Given the description of an element on the screen output the (x, y) to click on. 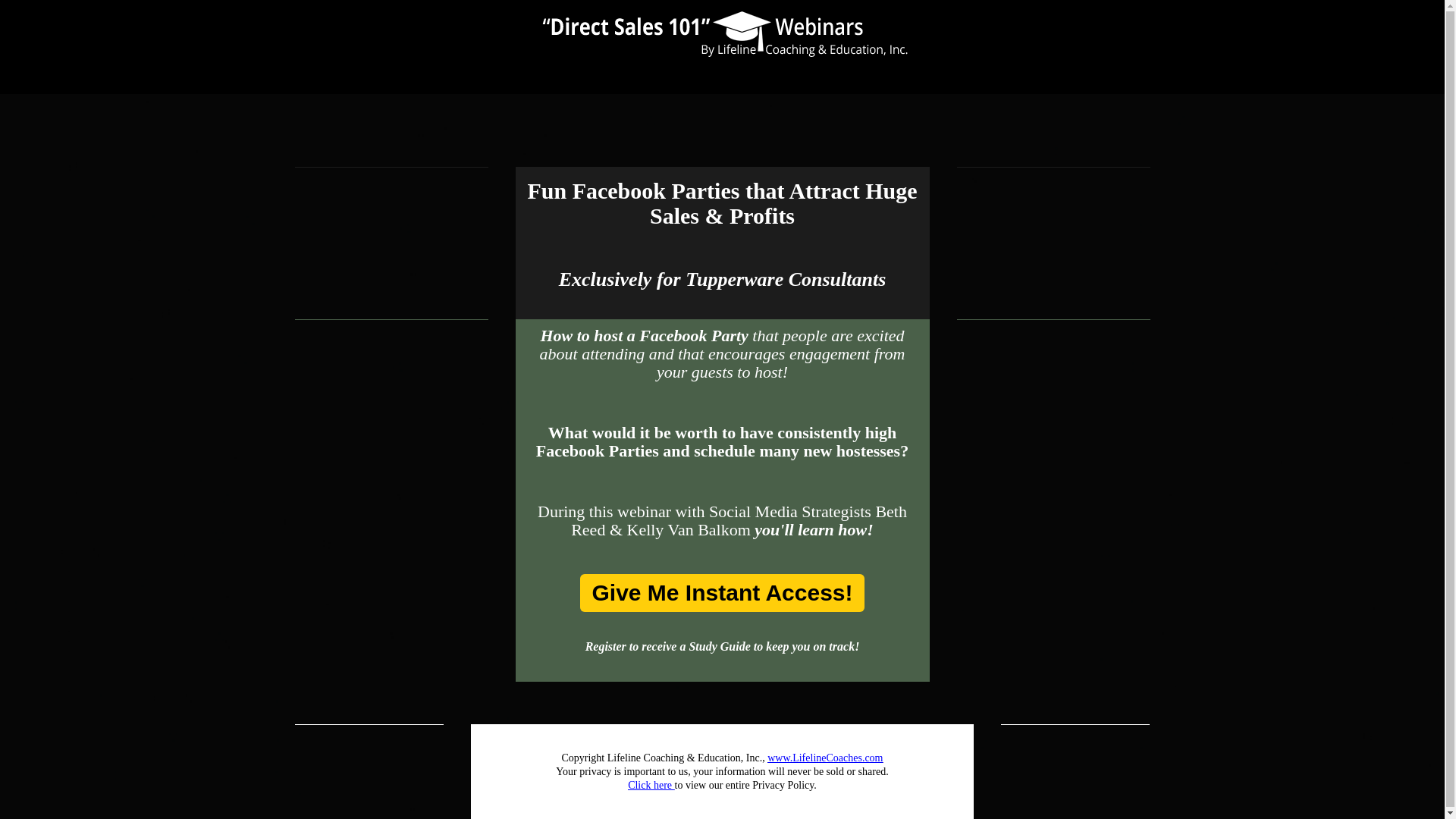
Click here (757, 791)
Direct Sales 101 Webinar (721, 32)
Give Me Instant Access! (721, 592)
www.LifelineCoaches.com (824, 757)
